Given the description of an element on the screen output the (x, y) to click on. 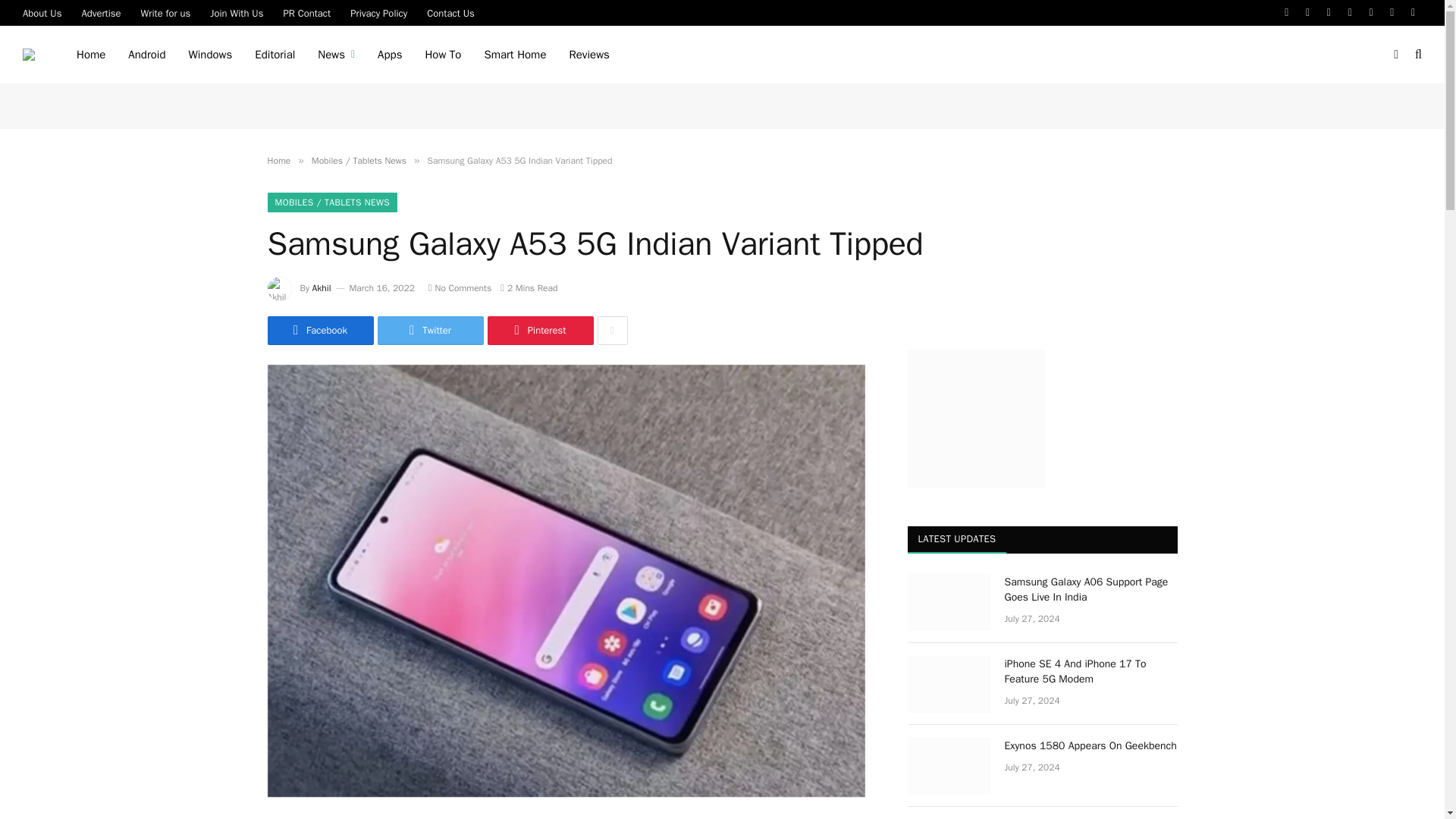
Editorial (274, 54)
PR Contact (306, 12)
News (335, 54)
Privacy Policy (378, 12)
Show More Social Sharing (611, 330)
Join With Us (236, 12)
Home (90, 54)
How To (442, 54)
Smart Home (514, 54)
About Us (42, 12)
Windows (209, 54)
Android (146, 54)
Write for us (165, 12)
Contact Us (450, 12)
Advertise (101, 12)
